Given the description of an element on the screen output the (x, y) to click on. 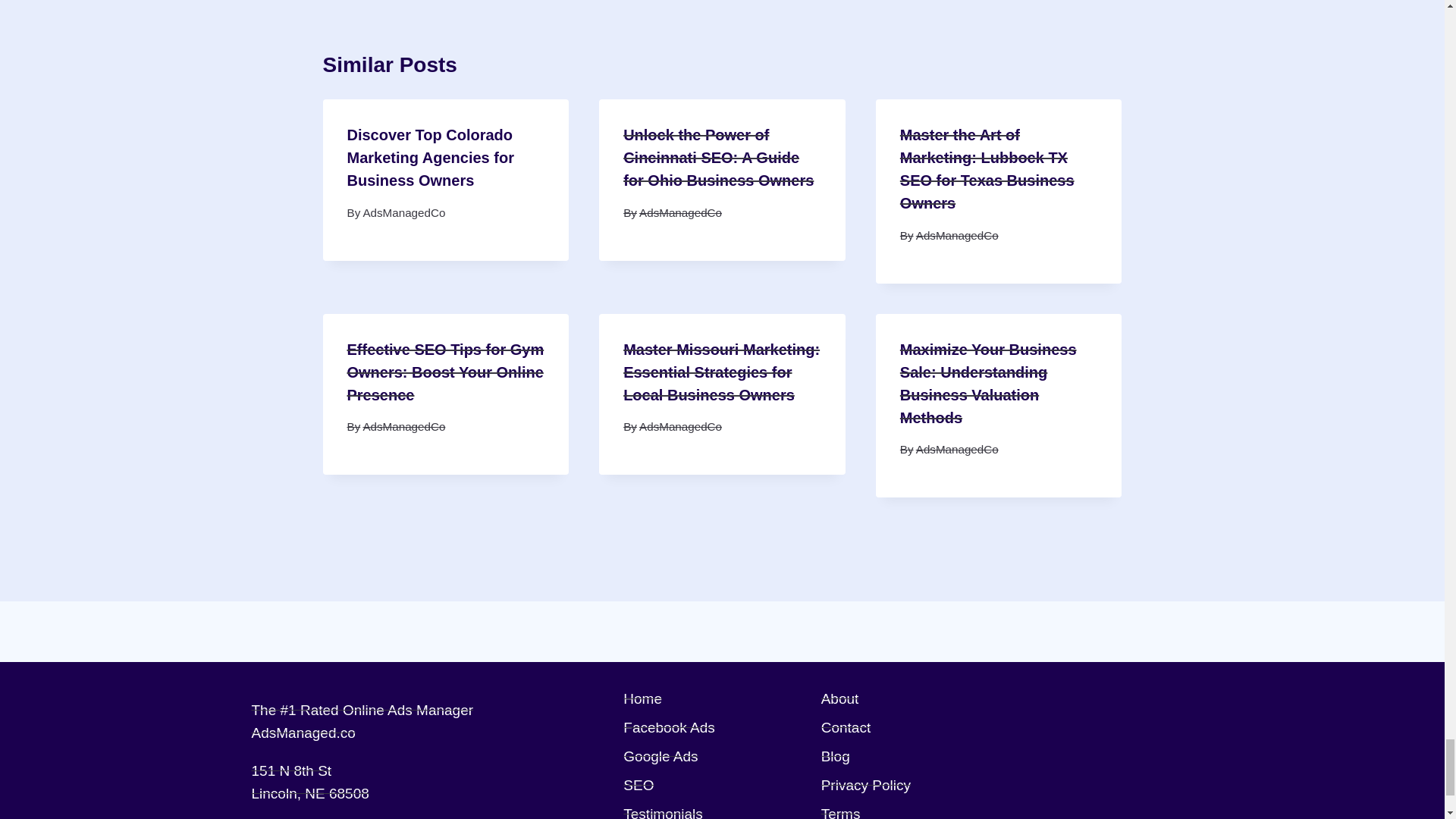
AdsManagedCo (956, 235)
AdsManagedCo (403, 212)
AdsManagedCo (680, 212)
Discover Top Colorado Marketing Agencies for Business Owners (430, 157)
